Given the description of an element on the screen output the (x, y) to click on. 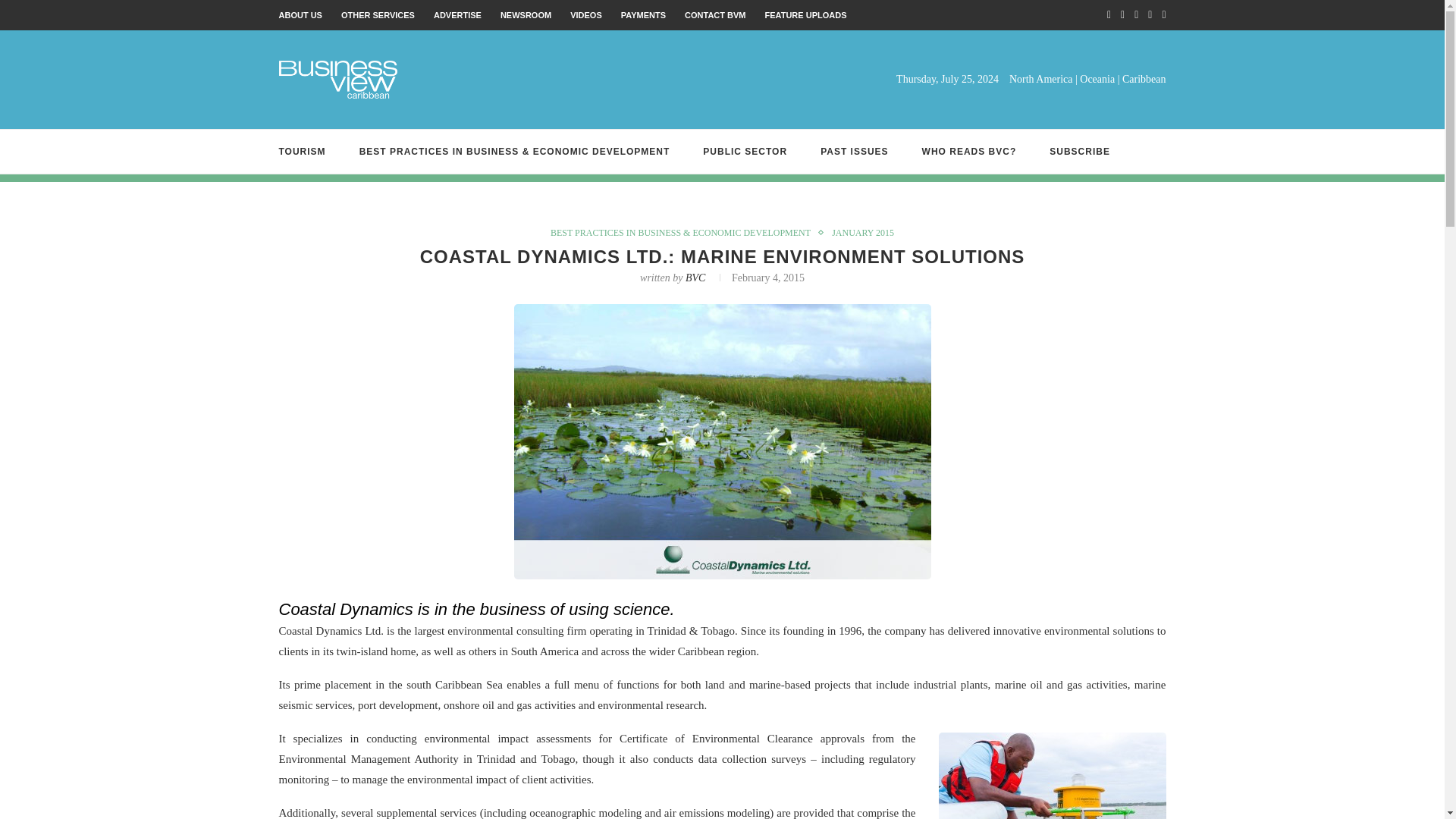
WHO READS BVC? (968, 151)
ADVERTISE (457, 14)
Caribbean (1144, 79)
Who Reads BVC? (968, 151)
Payments (643, 14)
PAST ISSUES (854, 151)
PUBLIC SECTOR (745, 151)
PAYMENTS (643, 14)
Subscribe (1079, 151)
Tourism (302, 151)
VIDEOS (586, 14)
NEWSROOM (525, 14)
SUBSCRIBE (1079, 151)
OTHER SERVICES (377, 14)
JANUARY 2015 (862, 232)
